Given the description of an element on the screen output the (x, y) to click on. 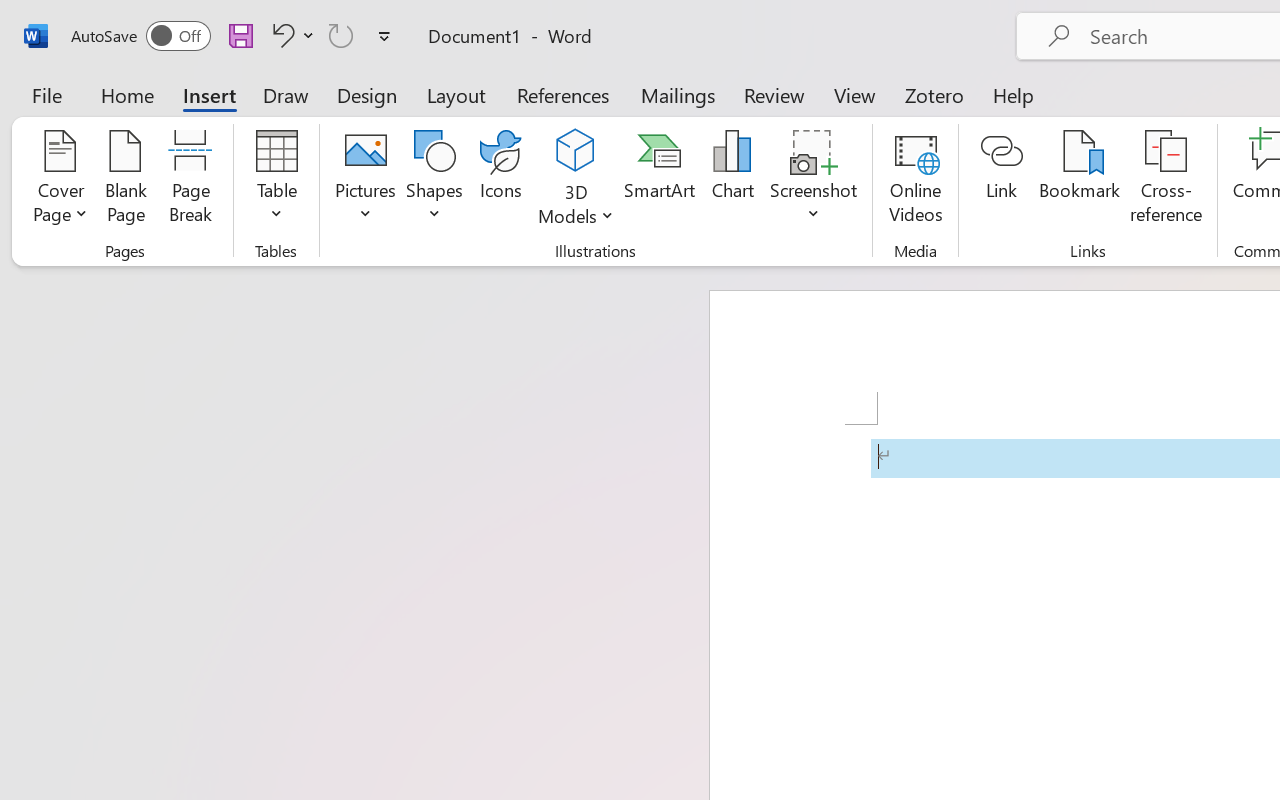
3D Models (576, 179)
Undo Apply Quick Style (290, 35)
Pictures (365, 179)
Blank Page (125, 179)
Link (1001, 179)
SmartArt... (659, 179)
